Given the description of an element on the screen output the (x, y) to click on. 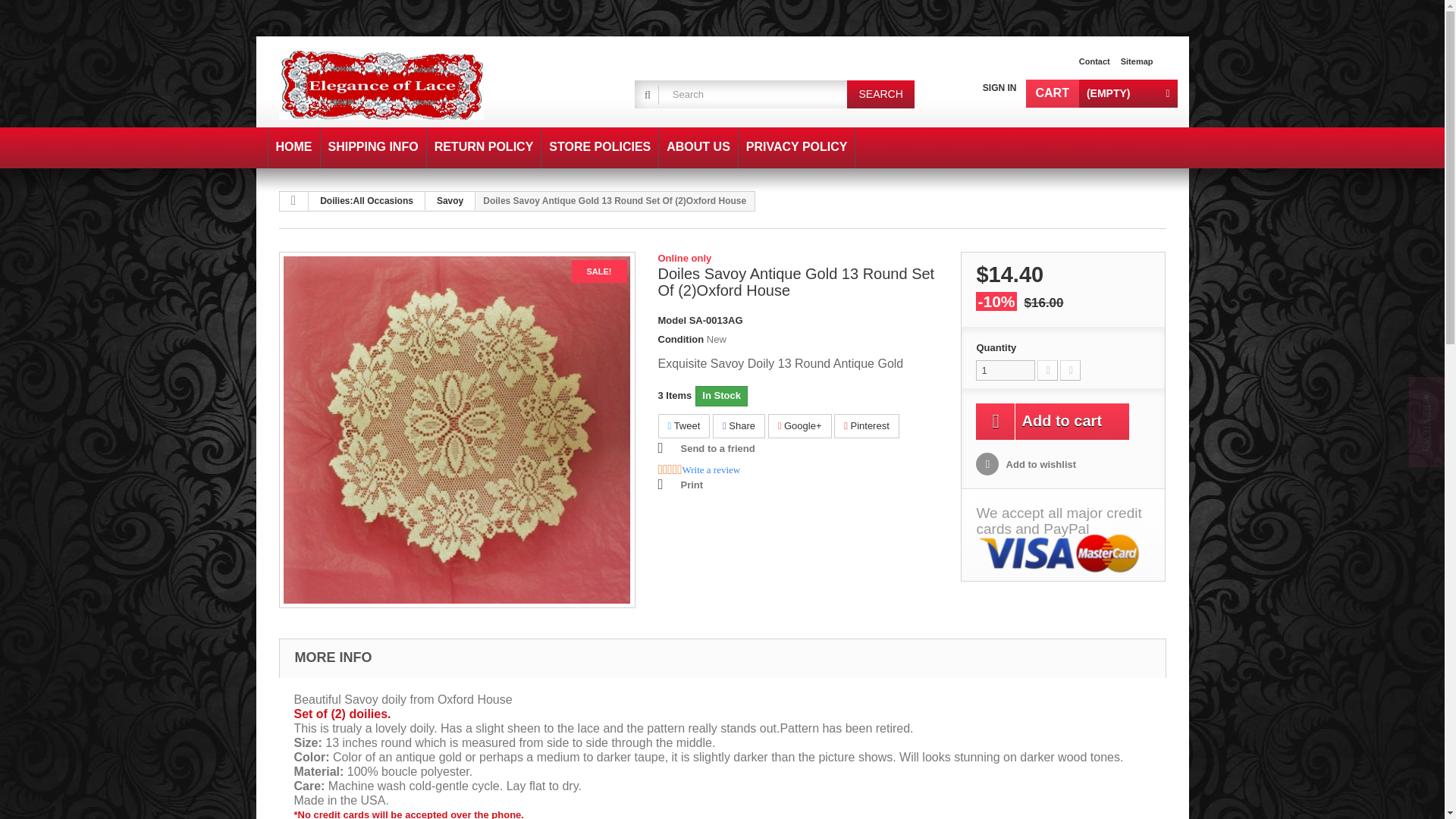
SEARCH (880, 94)
View my shopping cart (1100, 93)
Sitemap (1137, 61)
sitemap (1137, 61)
Home (293, 147)
Log in to your customer account (999, 88)
1 (1005, 370)
SIGN IN (999, 88)
Contact (1093, 61)
contact (1093, 61)
